Given the description of an element on the screen output the (x, y) to click on. 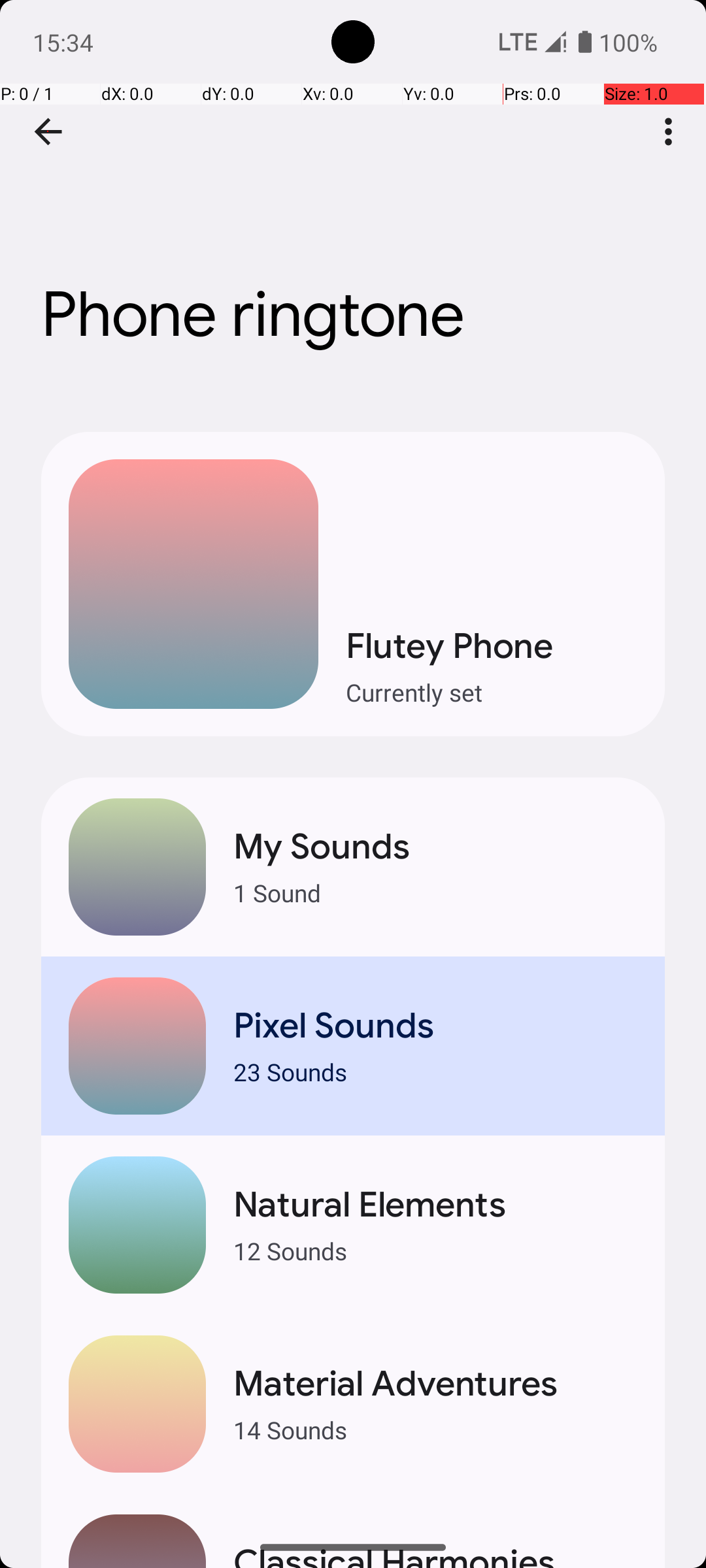
Currently set Element type: android.widget.TextView (491, 691)
My Sounds Element type: android.widget.TextView (435, 846)
1 Sound Element type: android.widget.TextView (435, 892)
Pixel Sounds Element type: android.widget.TextView (435, 1025)
23 Sounds Element type: android.widget.TextView (435, 1071)
Natural Elements Element type: android.widget.TextView (435, 1204)
Material Adventures Element type: android.widget.TextView (435, 1383)
14 Sounds Element type: android.widget.TextView (435, 1429)
Classical Harmonies Element type: android.widget.TextView (435, 1554)
